Given the description of an element on the screen output the (x, y) to click on. 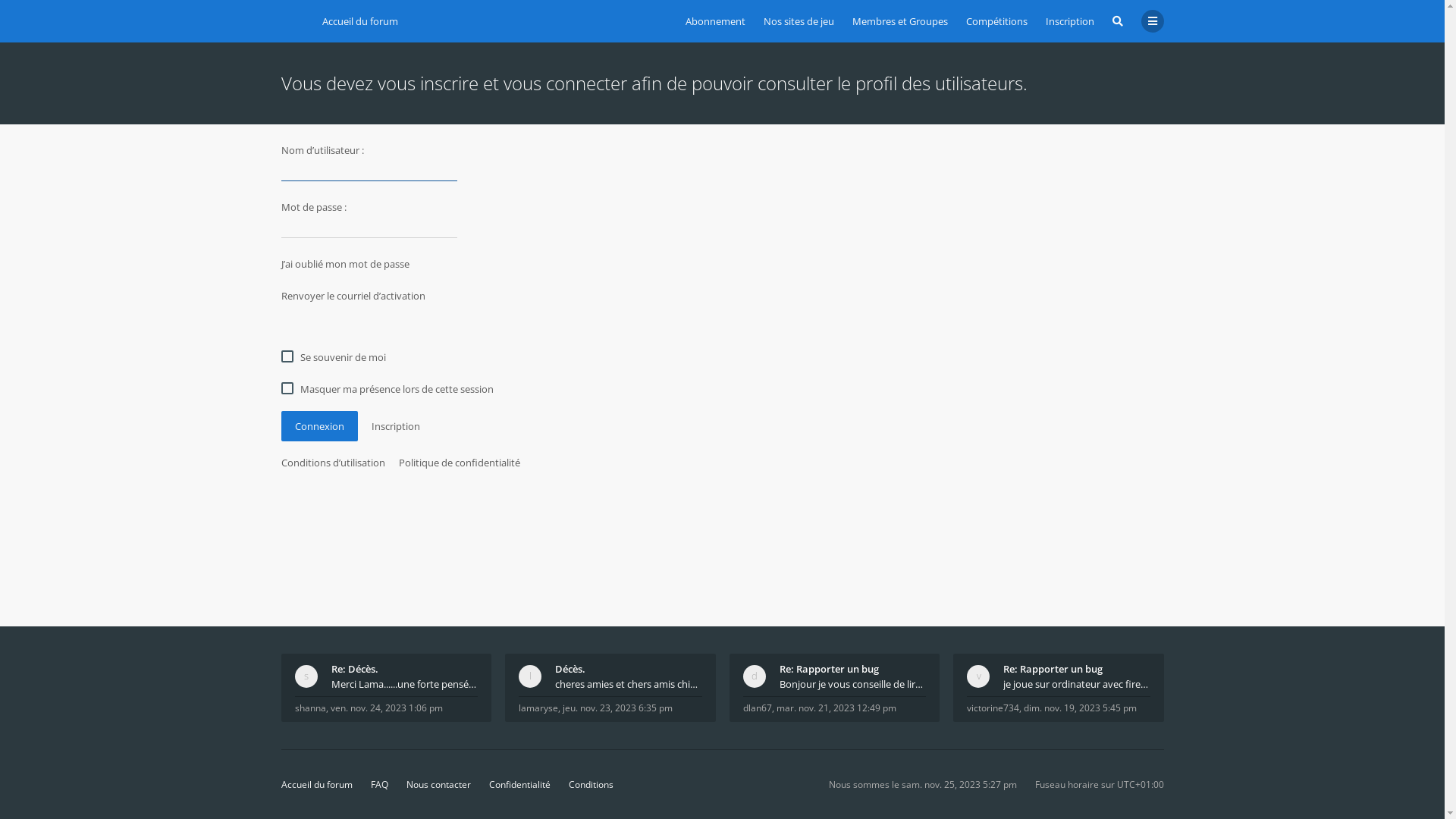
victorine734 Element type: text (992, 707)
shanna Element type: text (309, 707)
Nos sites de jeu Element type: text (797, 20)
dim. nov. 19, 2023 5:45 pm Element type: text (1079, 707)
jeu. nov. 23, 2023 6:35 pm Element type: text (617, 707)
Membres et Groupes Element type: text (899, 20)
Accueil du forum Element type: text (315, 784)
Inscription Element type: text (1068, 20)
Re: Rapporter un bug Element type: text (1076, 668)
je joue sur ordinateur avec firefox Element type: text (1076, 683)
Accueil du forum Element type: hover (291, 18)
Abonnement Element type: text (715, 20)
Connexion Element type: text (318, 426)
Nous contacter Element type: text (438, 784)
Accueil du forum Element type: text (359, 21)
mar. nov. 21, 2023 12:49 pm Element type: text (836, 707)
dlan67 Element type: text (757, 707)
cheres amies et chers amis chibreurs notre amie e Element type: text (628, 683)
FAQ Element type: text (378, 784)
lamaryse Element type: text (538, 707)
Conditions Element type: text (590, 784)
Re: Rapporter un bug Element type: text (852, 668)
ven. nov. 24, 2023 1:06 pm Element type: text (386, 707)
Bonjour je vous conseille de lire cela, et de v Element type: text (852, 683)
Inscription Element type: text (395, 425)
